Given the description of an element on the screen output the (x, y) to click on. 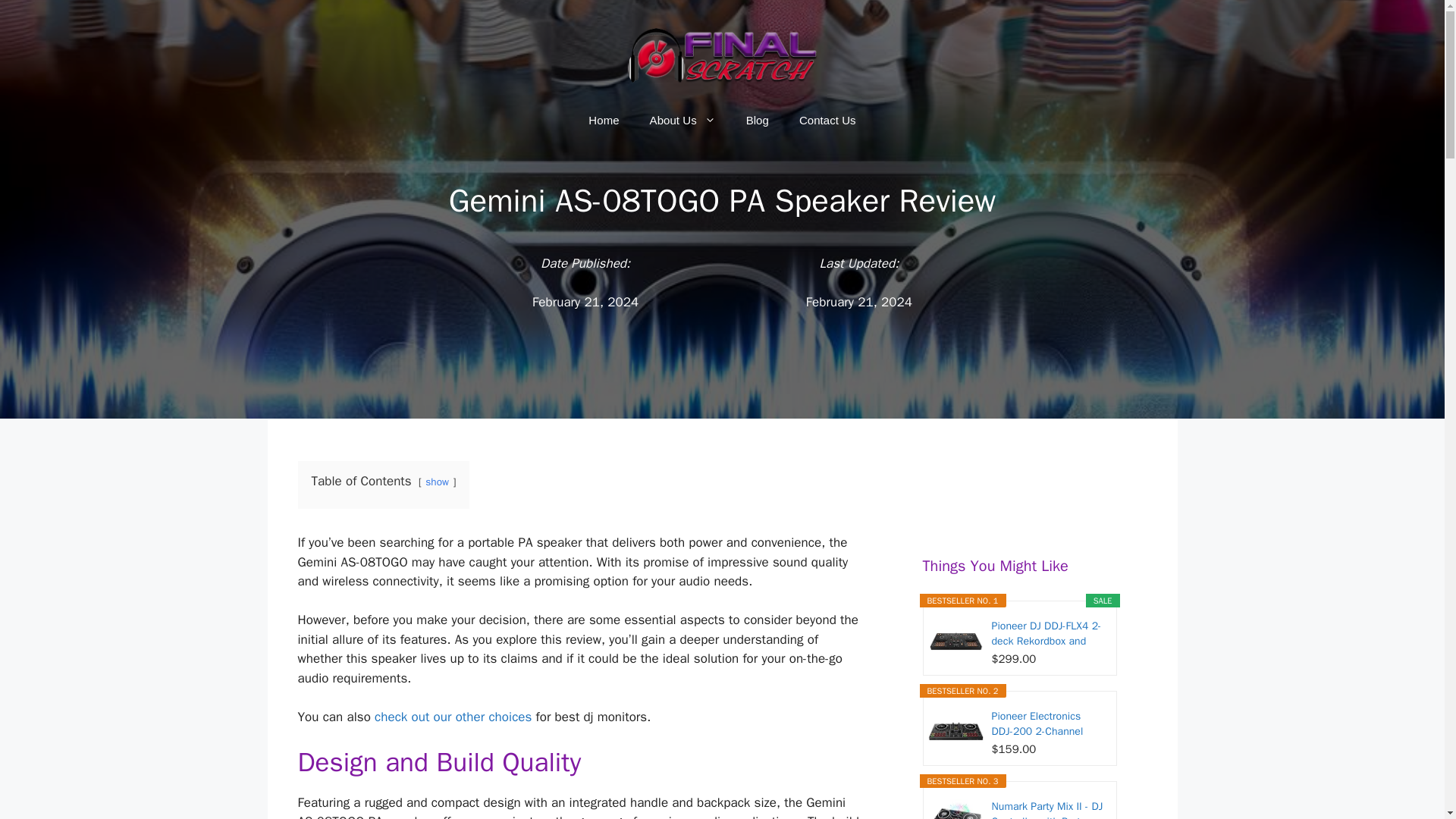
Final Scratch (721, 53)
show (436, 481)
Final Scratch (721, 54)
Pioneer DJ DDJ-FLX4 2-deck Rekordbox and Serato DJ... (1048, 634)
Home (603, 120)
Pioneer Electronics DDJ-200 2-Channel Smart DJ... (1048, 724)
check out our other choices (452, 716)
About Us (682, 120)
Pioneer Electronics DDJ-200 2-Channel Smart DJ Controller (1048, 724)
Blog (757, 120)
Contact Us (827, 120)
